Given the description of an element on the screen output the (x, y) to click on. 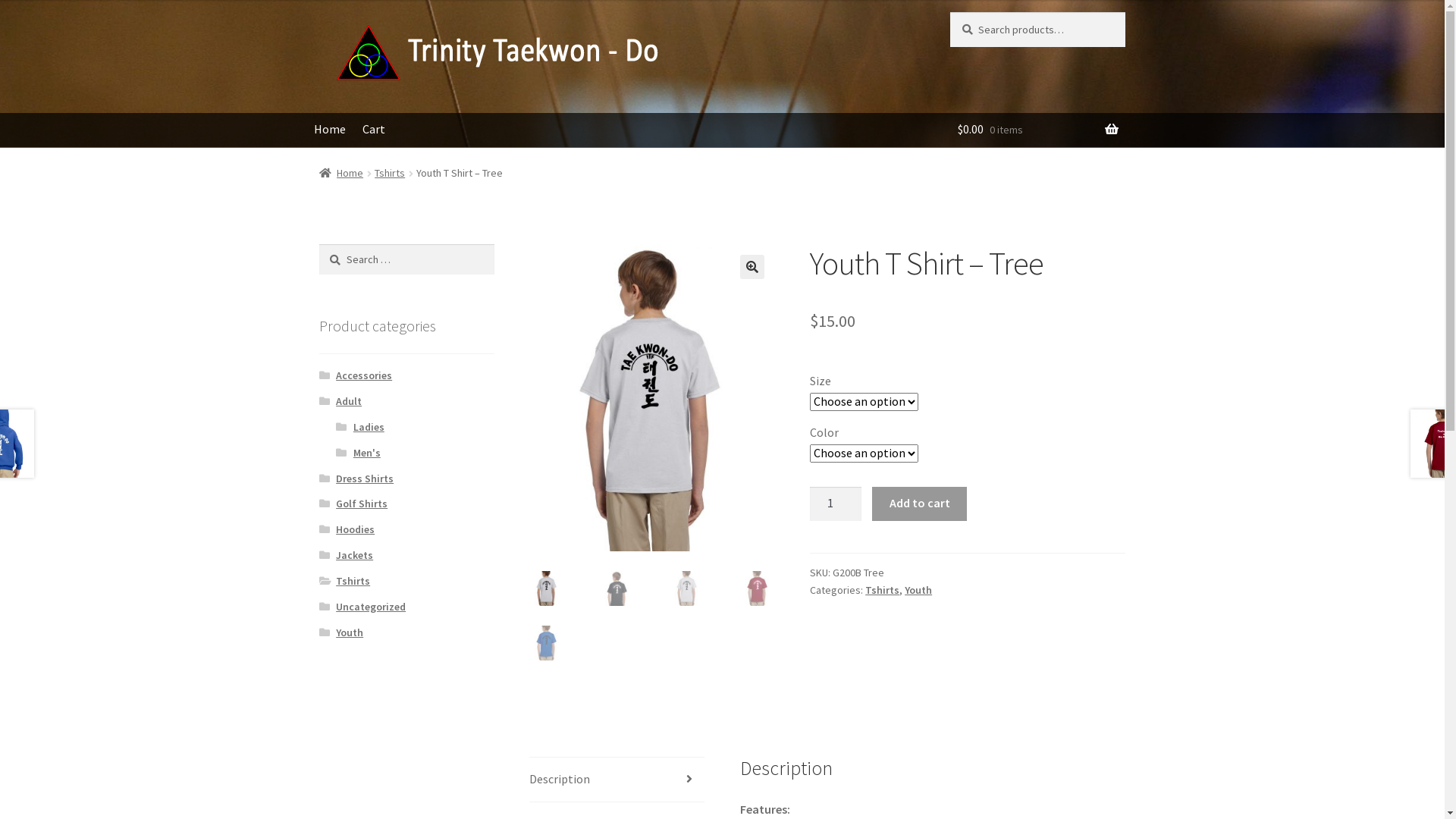
Dress Shirts Element type: text (364, 478)
Search Element type: text (318, 243)
Add to cart Element type: text (919, 503)
Qty Element type: hover (835, 503)
Golf Shirts Element type: text (361, 503)
Home Element type: text (330, 129)
Home Element type: text (341, 172)
Tshirts Element type: text (352, 580)
Uncategorized Element type: text (370, 606)
$0.00 0 items Element type: text (1037, 129)
Skip to navigation Element type: text (318, 11)
Tshirts Element type: text (389, 172)
Jackets Element type: text (354, 554)
Tshirts Element type: text (882, 589)
Youth Element type: text (917, 589)
Men's Element type: text (366, 452)
Description Element type: text (616, 779)
Search Element type: text (949, 11)
Cart Element type: text (373, 129)
Youth Element type: text (349, 632)
g200b_51_z_bk (1) Element type: hover (897, 366)
Ladies Element type: text (368, 426)
g200b Ash Tree Element type: hover (652, 397)
Adult Element type: text (348, 400)
Hoodies Element type: text (354, 529)
Accessories Element type: text (363, 375)
